Given the description of an element on the screen output the (x, y) to click on. 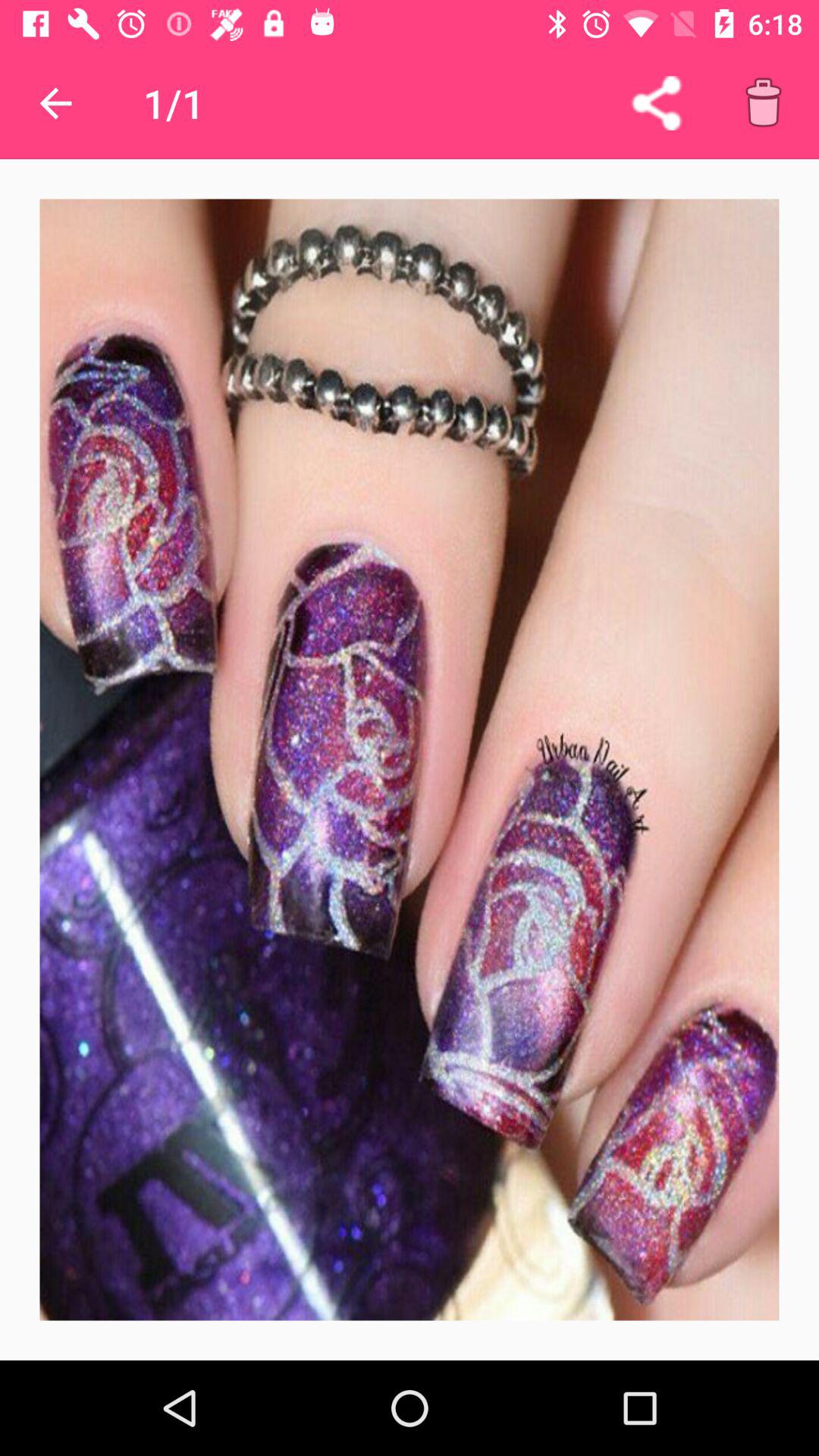
launch icon next to the 1/1 app (55, 103)
